Given the description of an element on the screen output the (x, y) to click on. 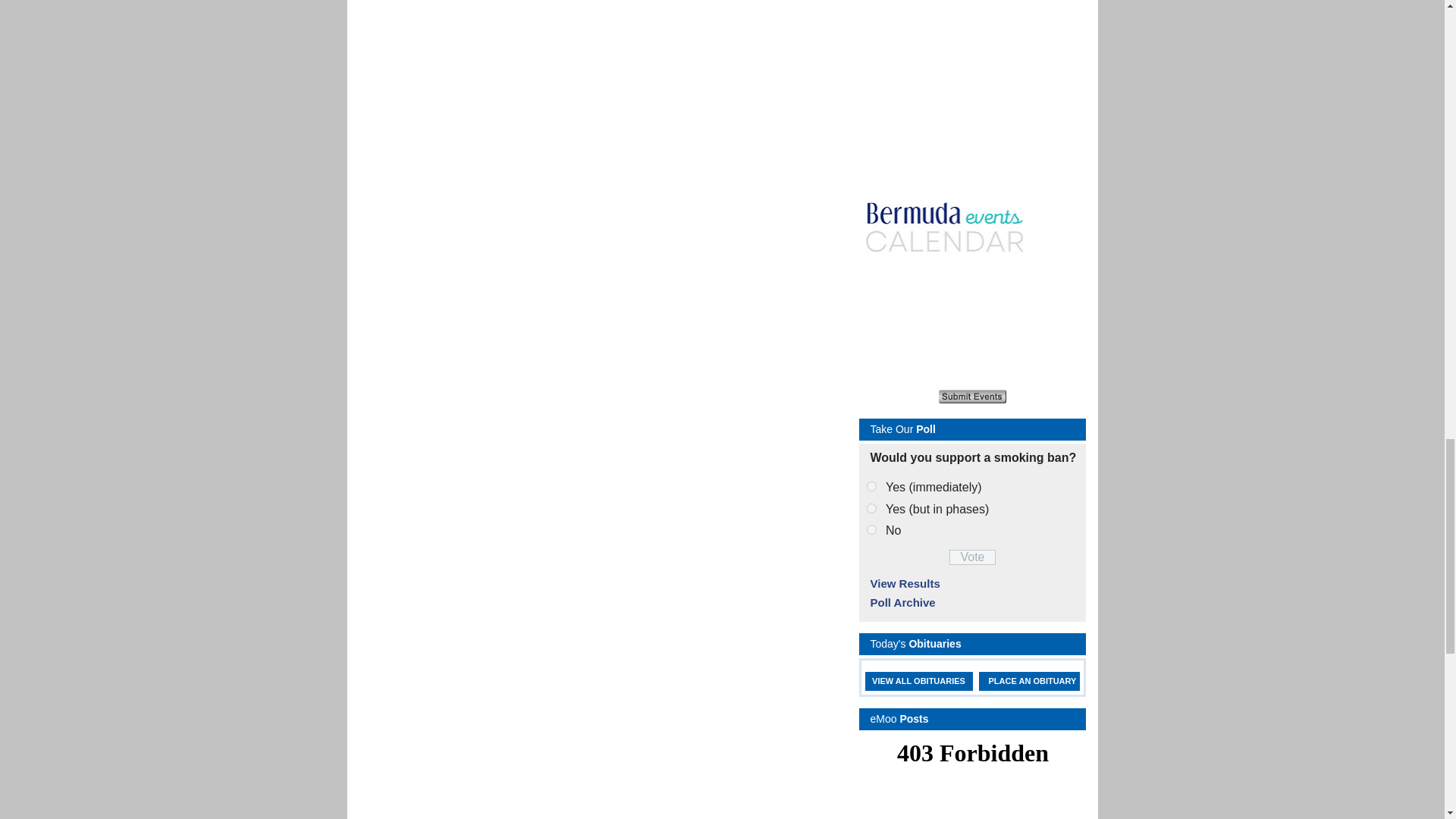
354 (871, 486)
   Vote    (972, 557)
356 (871, 529)
355 (871, 508)
